Given the description of an element on the screen output the (x, y) to click on. 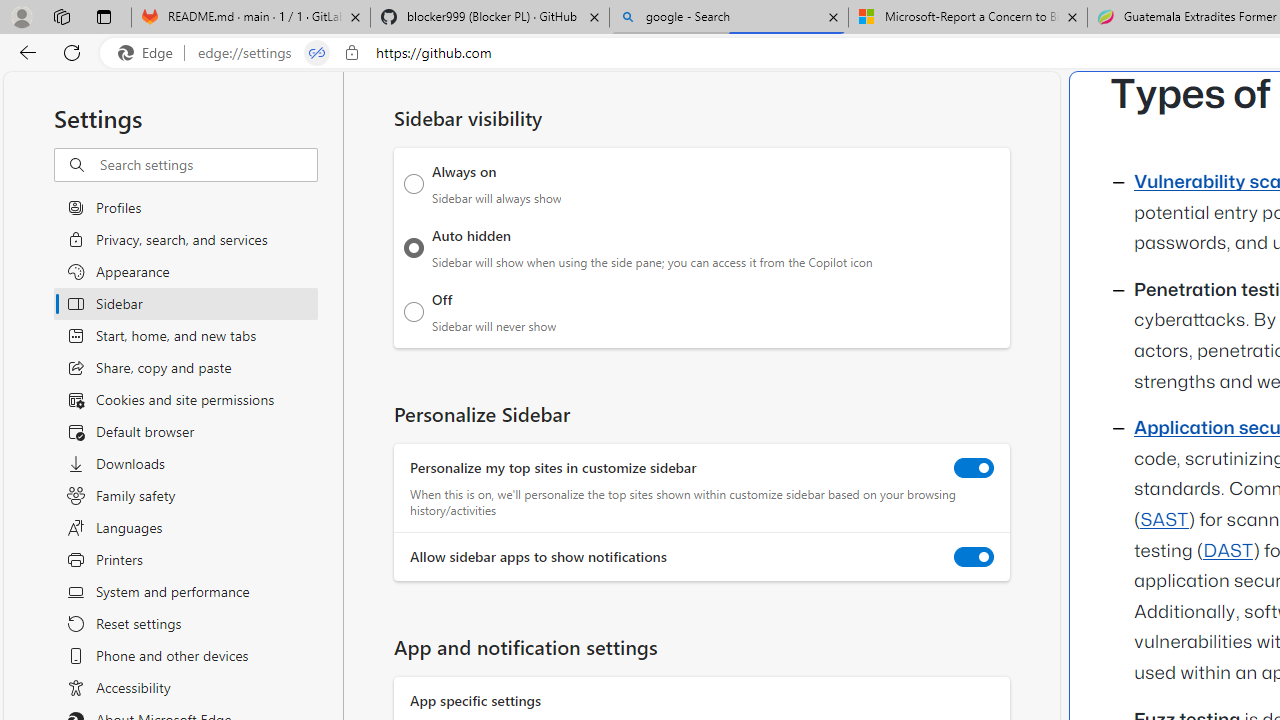
SAST (1164, 520)
Always on Sidebar will always show (413, 183)
Off Sidebar will never show (413, 311)
Personalize my top sites in customize sidebar (973, 467)
Search settings (207, 165)
google - Search (729, 17)
Edge (150, 53)
